Given the description of an element on the screen output the (x, y) to click on. 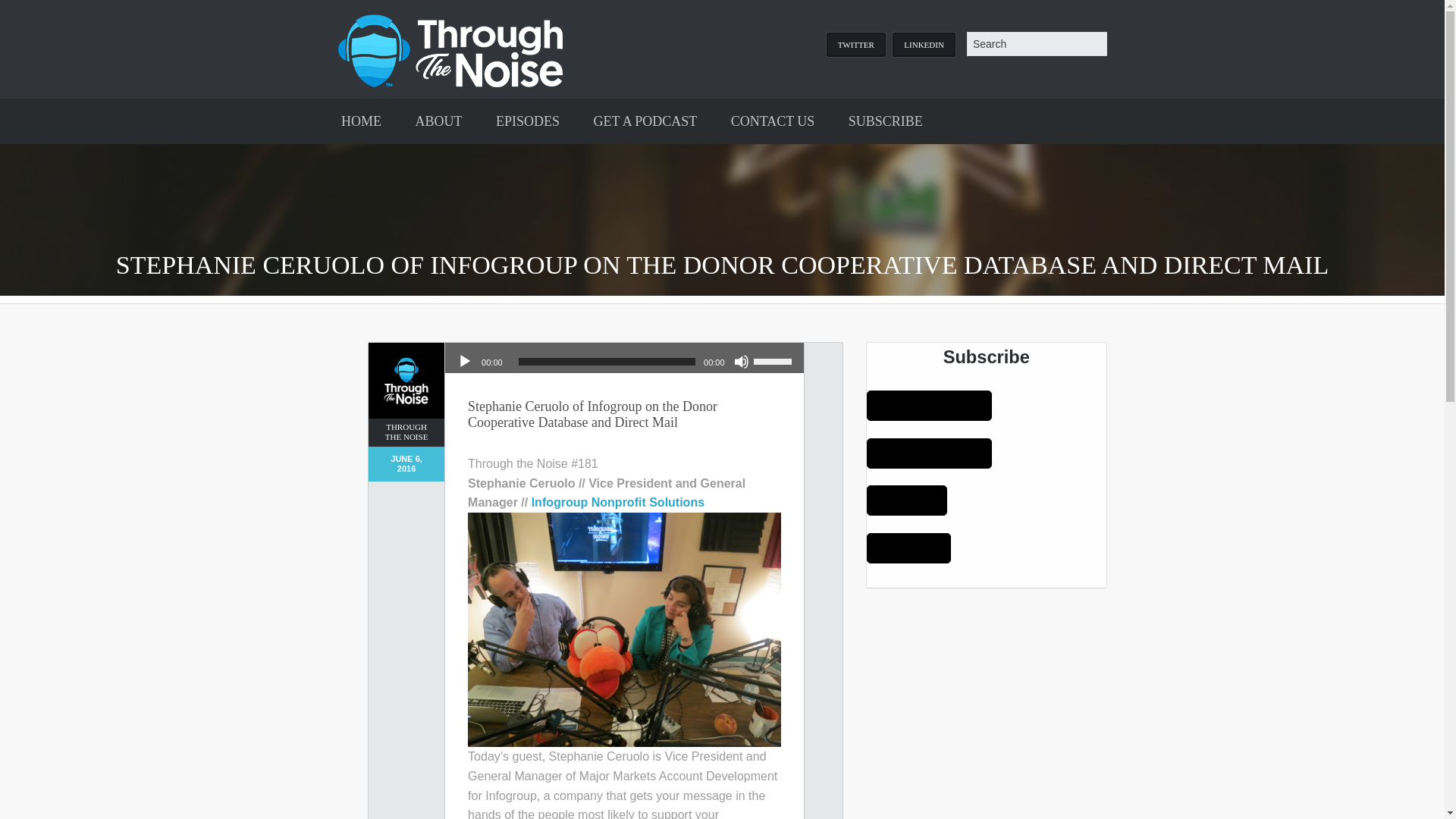
SUBSCRIBE (884, 121)
CONTACT US (772, 121)
Listen on Stitcher (908, 548)
Play (464, 361)
EPISODES (527, 121)
HOME (361, 121)
Search (1036, 43)
GET A PODCAST (644, 121)
Listen on Google Podcasts (928, 453)
Infogroup Nonprofit Solutions (617, 502)
TWITTER (856, 44)
Mute (741, 361)
LINKEDIN (923, 44)
ABOUT (438, 121)
Listen on Apple Podcasts (928, 405)
